Given the description of an element on the screen output the (x, y) to click on. 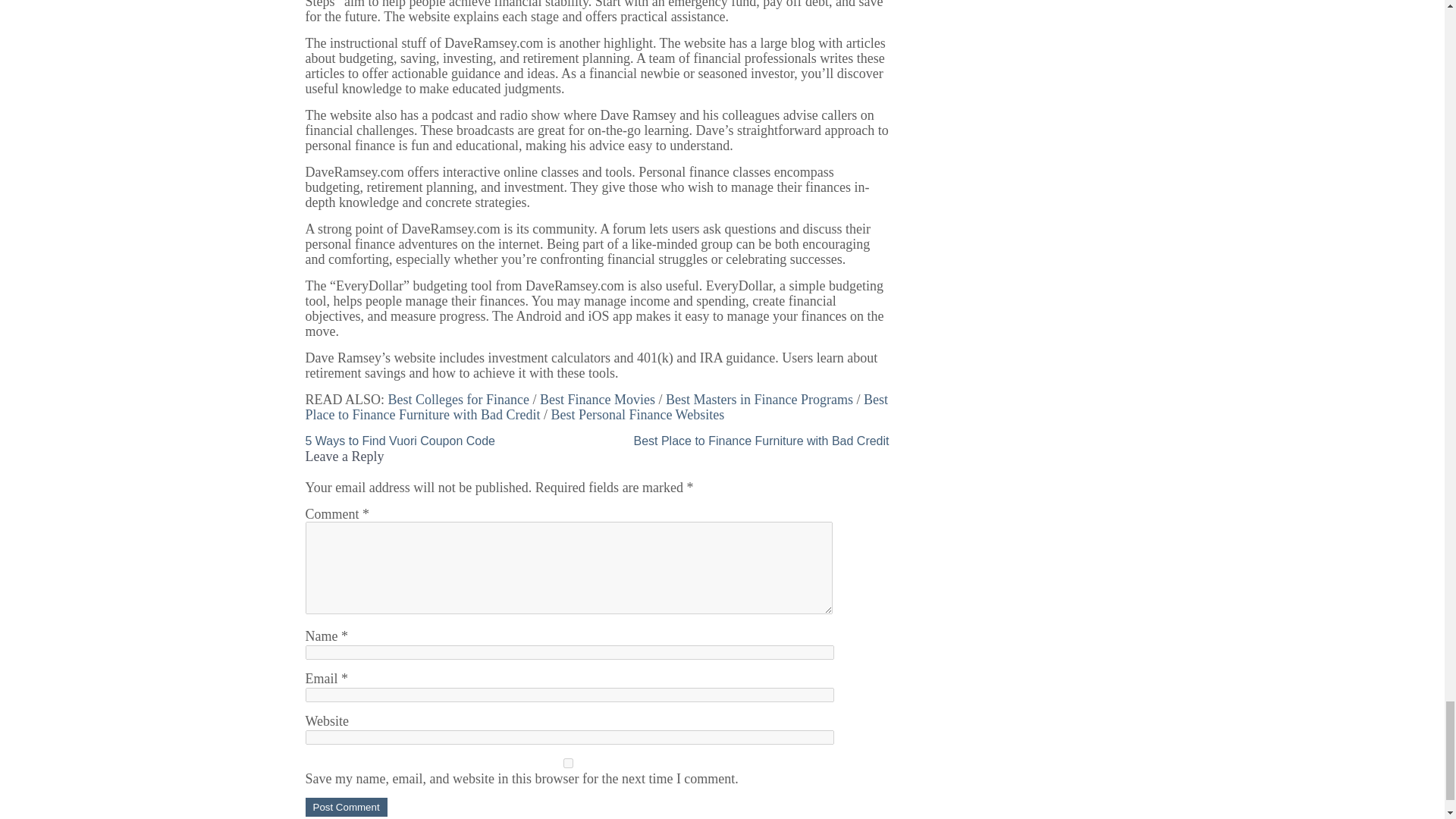
Best Masters in Finance Programs (759, 399)
5 Ways to Find Vuori Coupon Code (399, 440)
Best Place to Finance Furniture with Bad Credit (760, 440)
Post Comment (345, 806)
yes (566, 763)
Post Comment (345, 806)
Best Finance Movies (597, 399)
Best Personal Finance Websites (636, 414)
Best Colleges for Finance (458, 399)
Best Place to Finance Furniture with Bad Credit (596, 407)
